Given the description of an element on the screen output the (x, y) to click on. 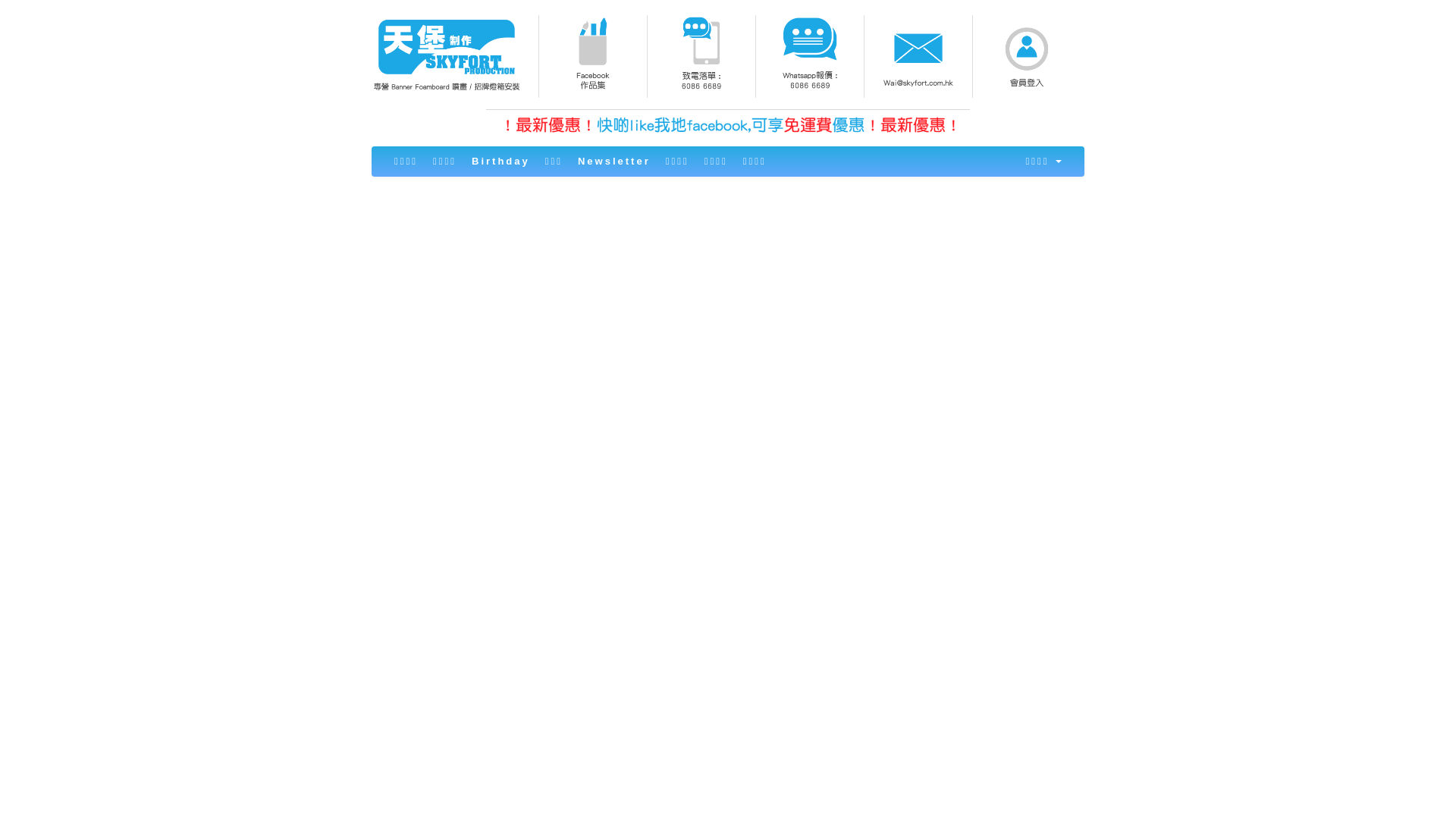
Birthday Element type: text (500, 161)
Skyfort Logo Element type: hover (445, 53)
Newsletter Element type: text (614, 161)
